Given the description of an element on the screen output the (x, y) to click on. 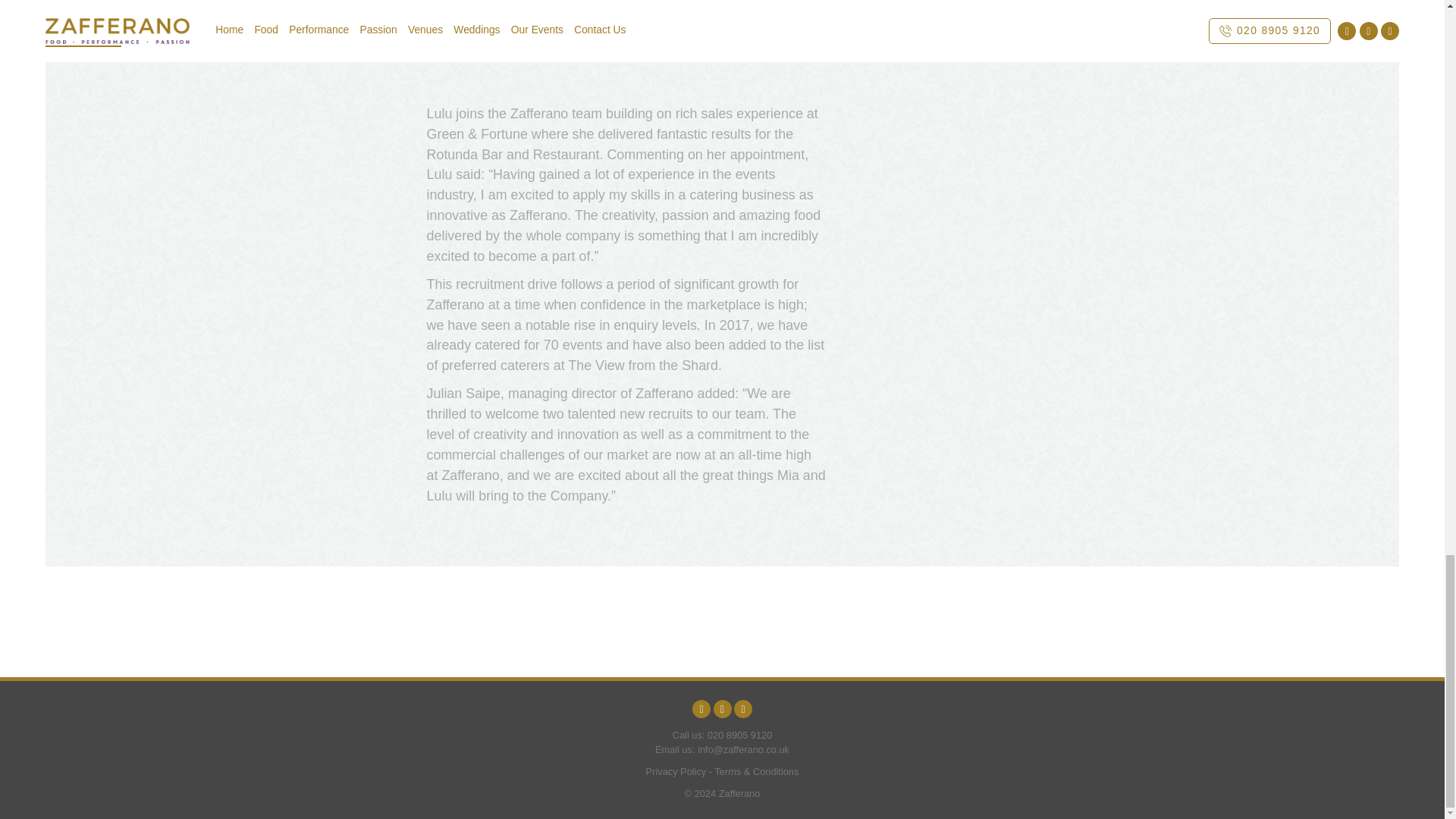
Privacy Policy (676, 771)
